Given the description of an element on the screen output the (x, y) to click on. 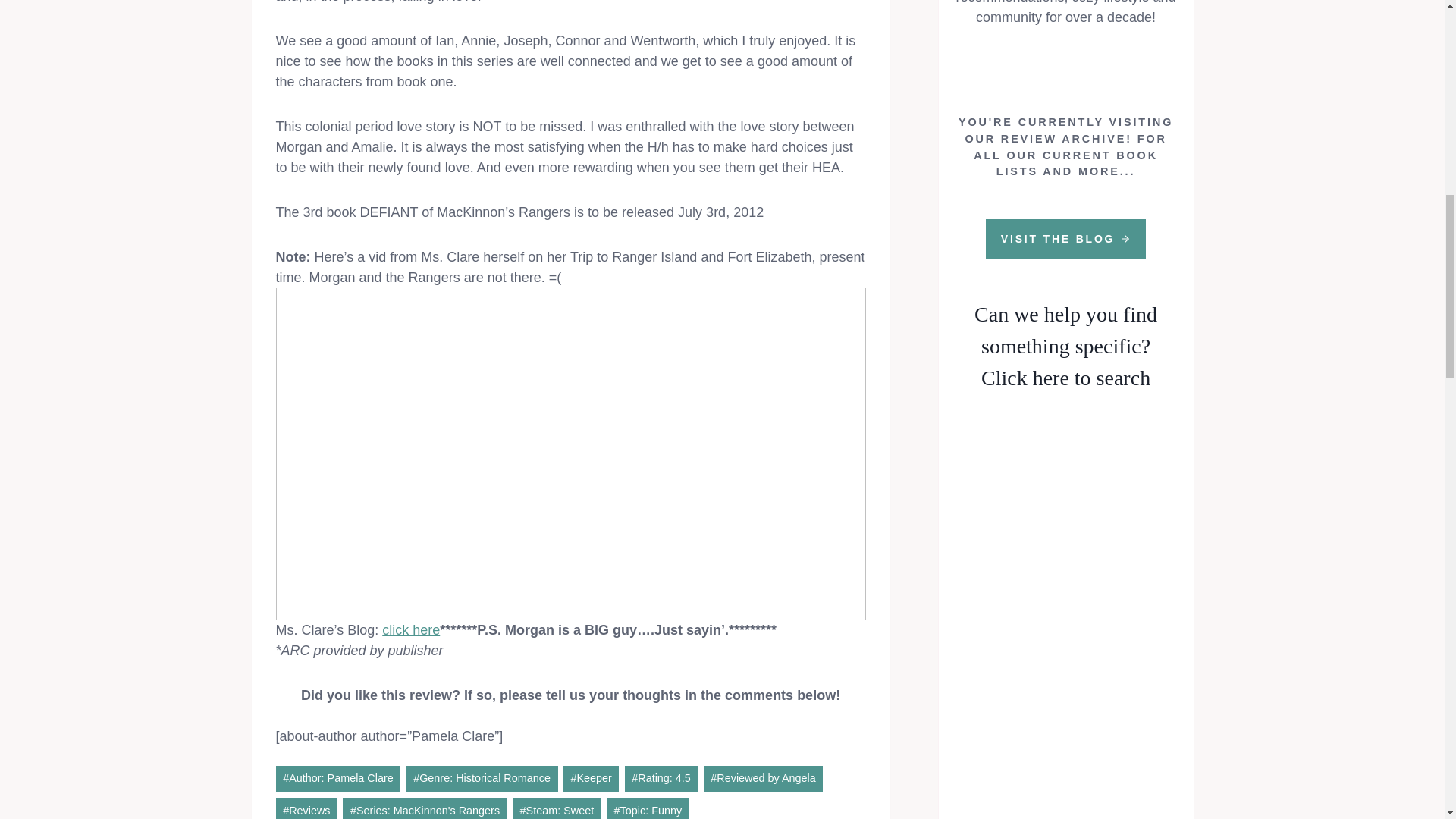
Rating: 4.5 (661, 778)
Steam: Sweet (556, 808)
Series: MacKinnon's Rangers (424, 808)
Reviews (306, 808)
Topic: Funny (647, 808)
Reviewed by Angela (763, 778)
click here (410, 630)
Genre: Historical Romance (481, 778)
Author: Pamela Clare (338, 778)
Keeper (591, 778)
